Given the description of an element on the screen output the (x, y) to click on. 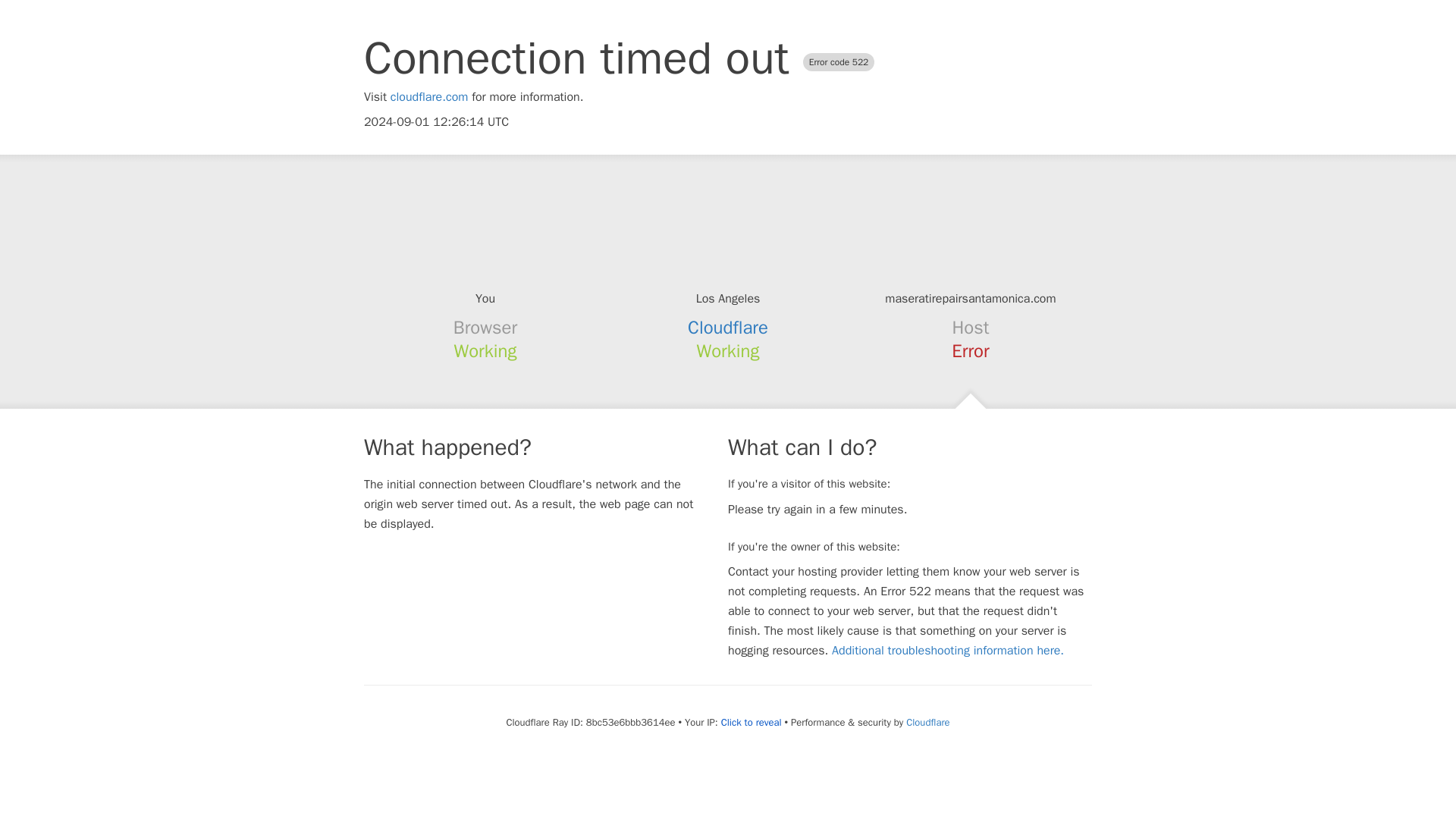
Additional troubleshooting information here. (947, 650)
cloudflare.com (429, 96)
Cloudflare (927, 721)
Cloudflare (727, 327)
Click to reveal (750, 722)
